Given the description of an element on the screen output the (x, y) to click on. 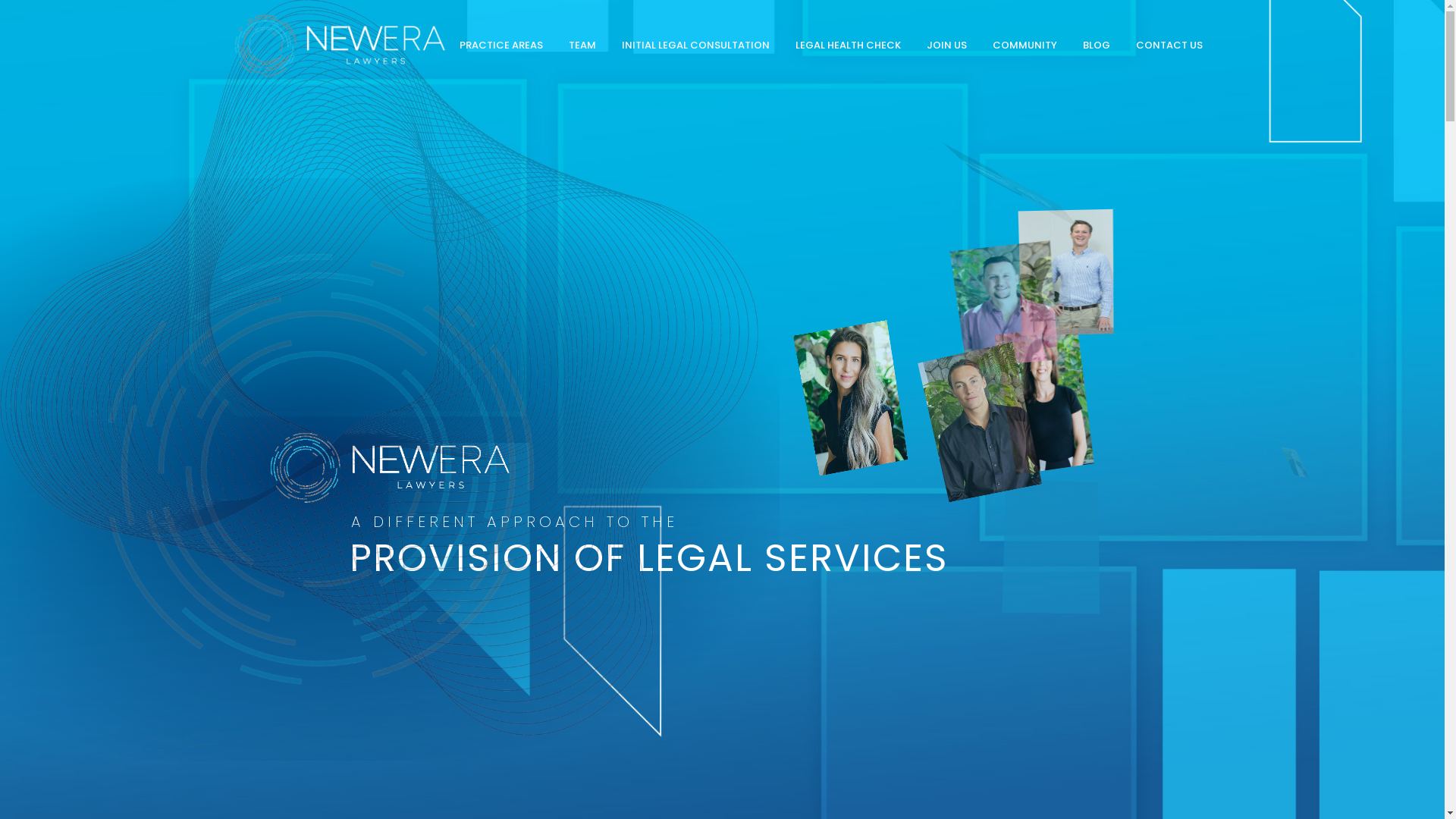
INITIAL LEGAL CONSULTATION Element type: text (694, 45)
COMMUNITY Element type: text (1024, 45)
JOIN US Element type: text (946, 45)
BLOG Element type: text (1095, 45)
LEGAL HEALTH CHECK Element type: text (847, 45)
PRACTICE AREAS Element type: text (500, 45)
CONTACT US Element type: text (1168, 45)
TEAM Element type: text (581, 45)
